Given the description of an element on the screen output the (x, y) to click on. 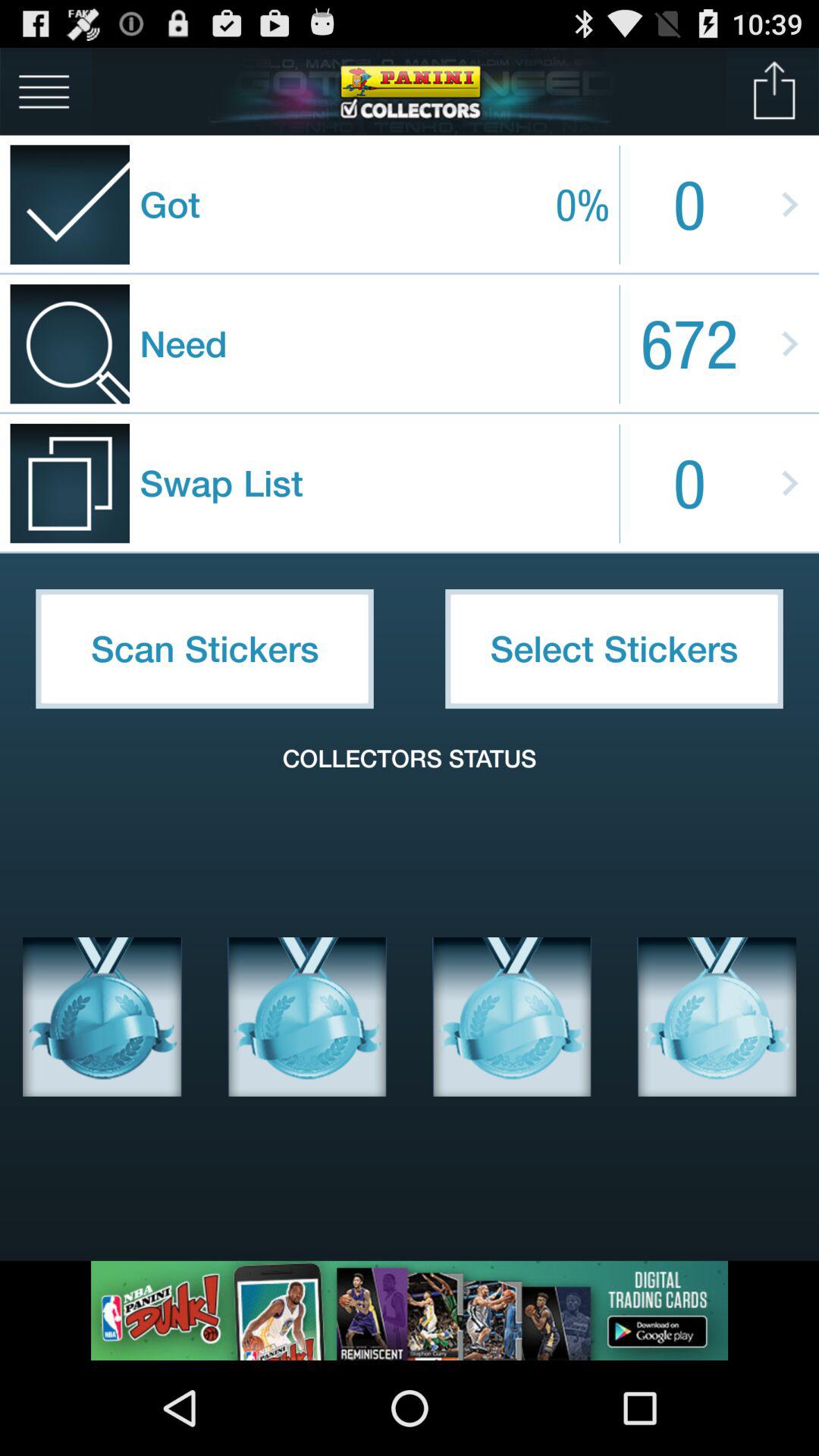
share lists (774, 91)
